Given the description of an element on the screen output the (x, y) to click on. 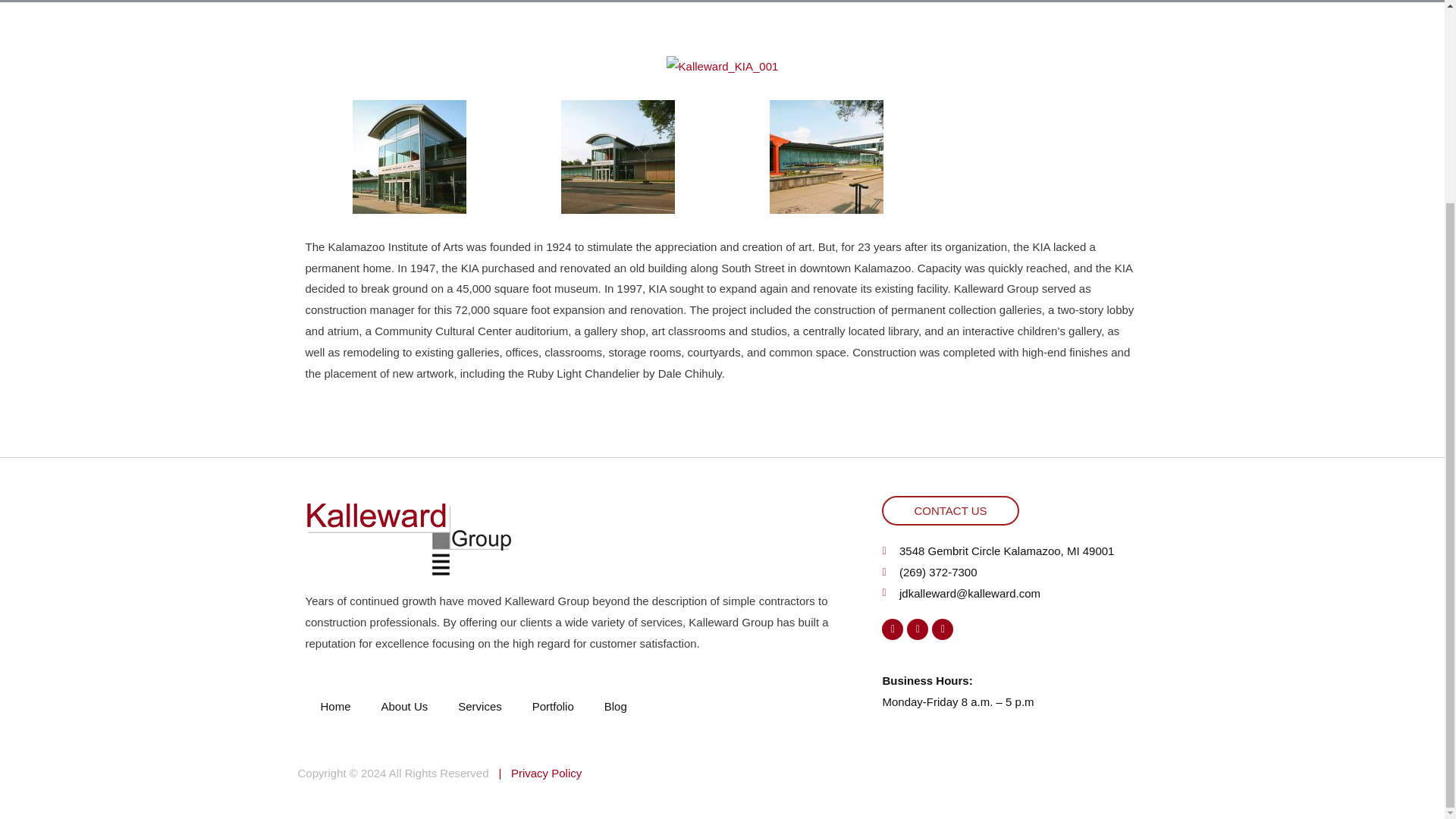
Portfolio (552, 706)
About Us (405, 706)
Home (334, 706)
Services (479, 706)
